Given the description of an element on the screen output the (x, y) to click on. 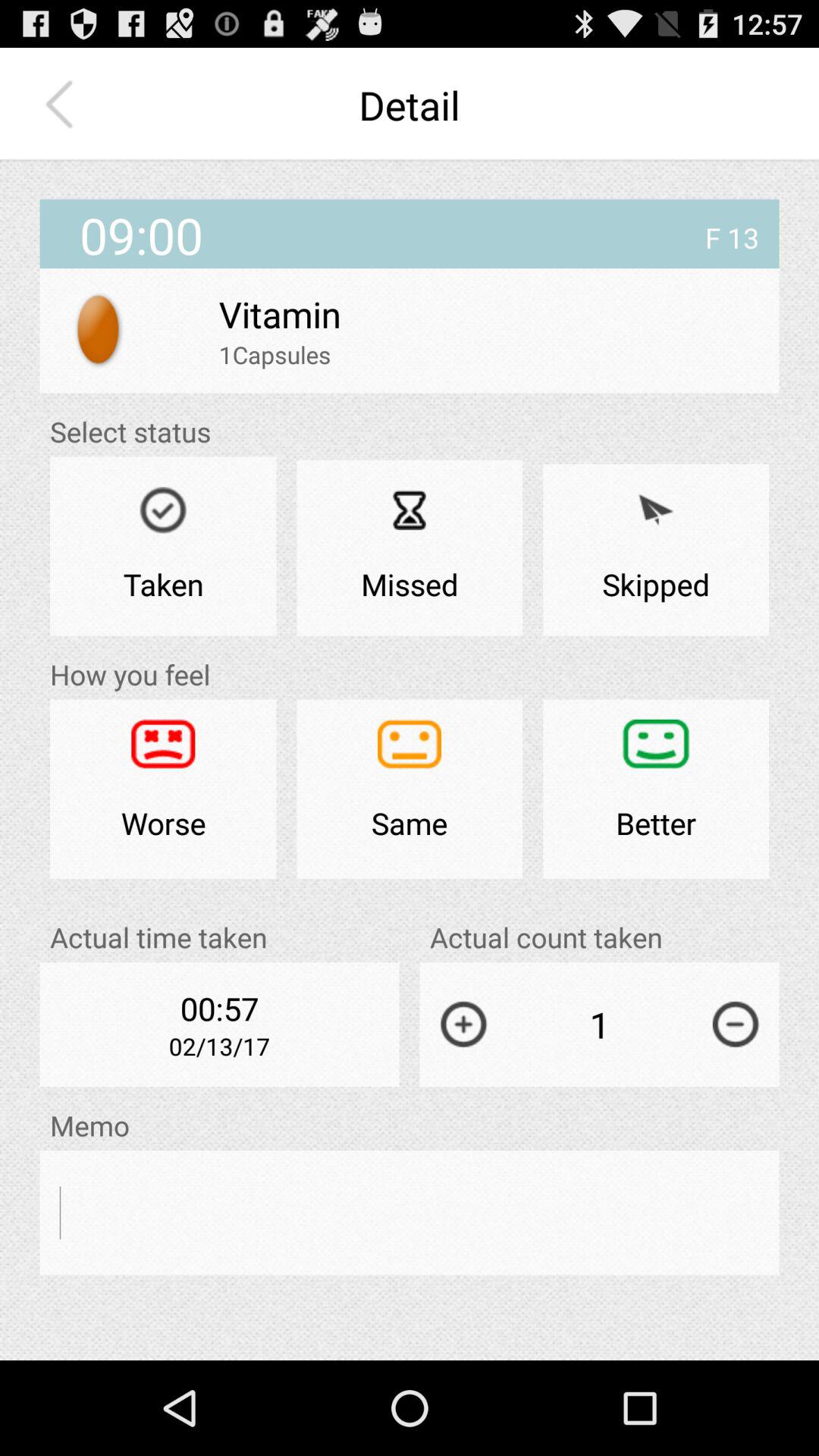
open the radio button next to better radio button (409, 788)
